Given the description of an element on the screen output the (x, y) to click on. 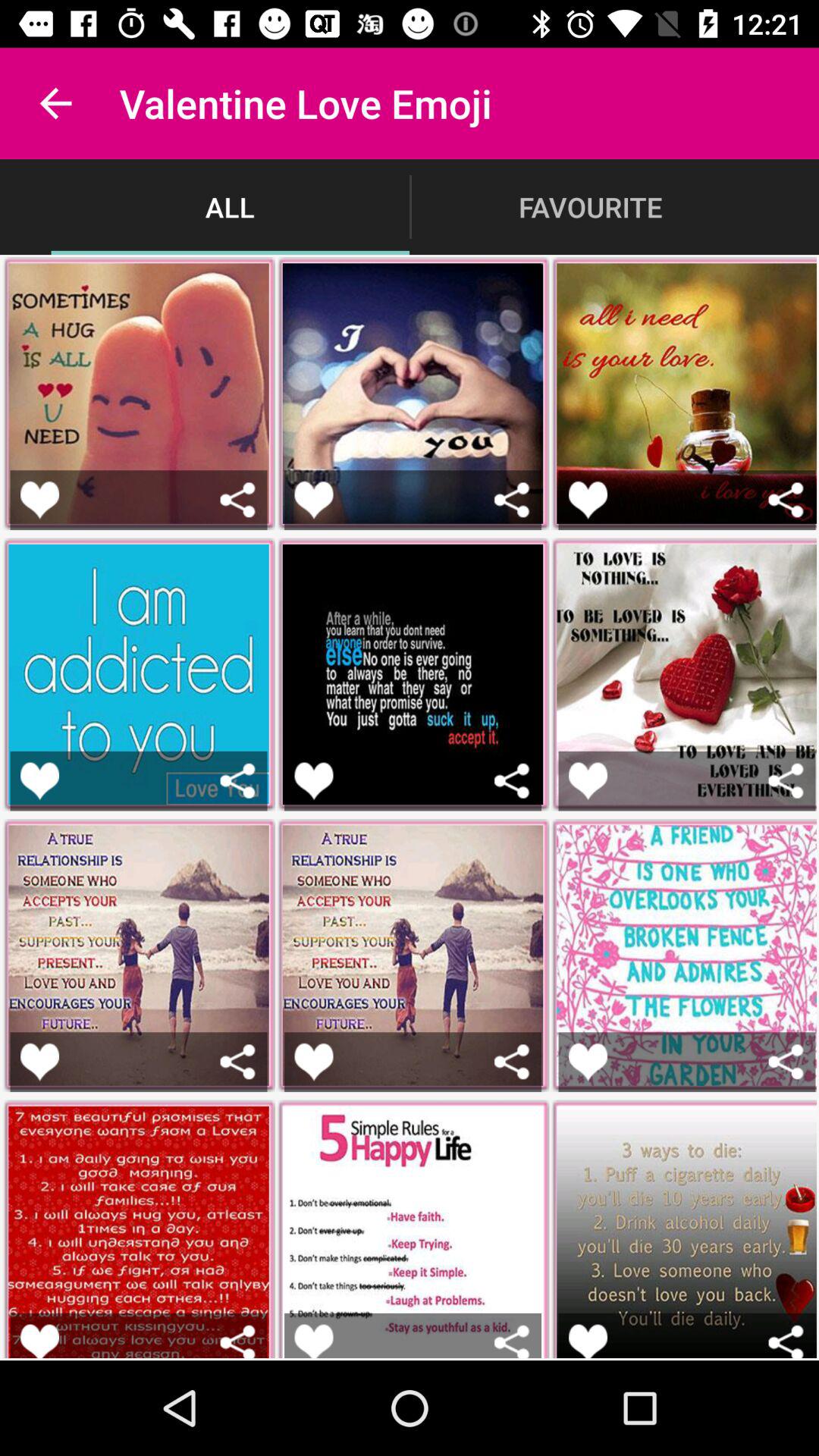
launch the icon to the left of the valentine love emoji (55, 103)
